Given the description of an element on the screen output the (x, y) to click on. 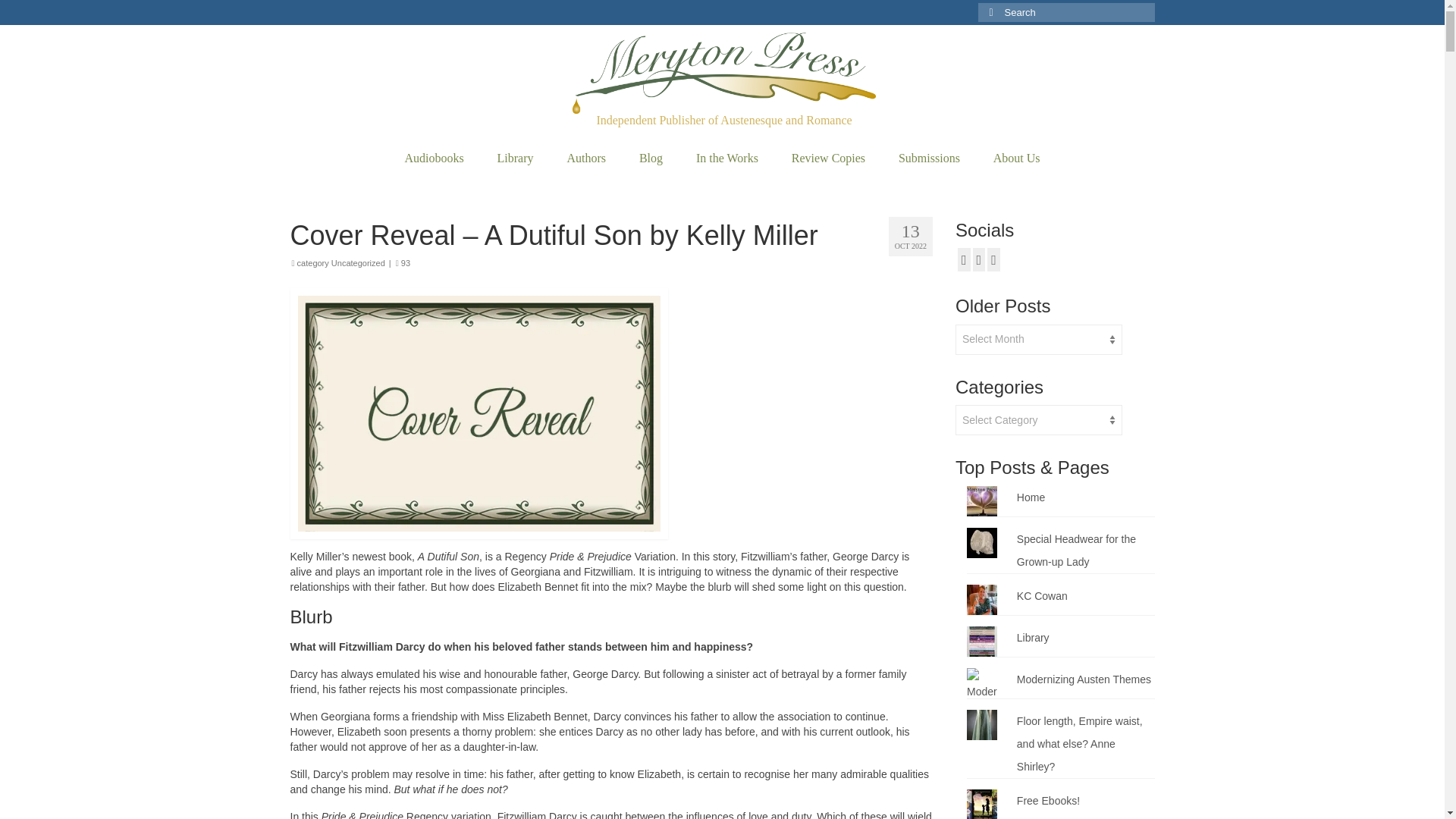
Library (514, 158)
Authors (586, 158)
Blog (651, 158)
KC Cowan (1041, 595)
Home (1030, 497)
Audiobooks (433, 158)
Meryton Press (724, 72)
Special Headwear for the Grown-up Lady (1075, 550)
